Given the description of an element on the screen output the (x, y) to click on. 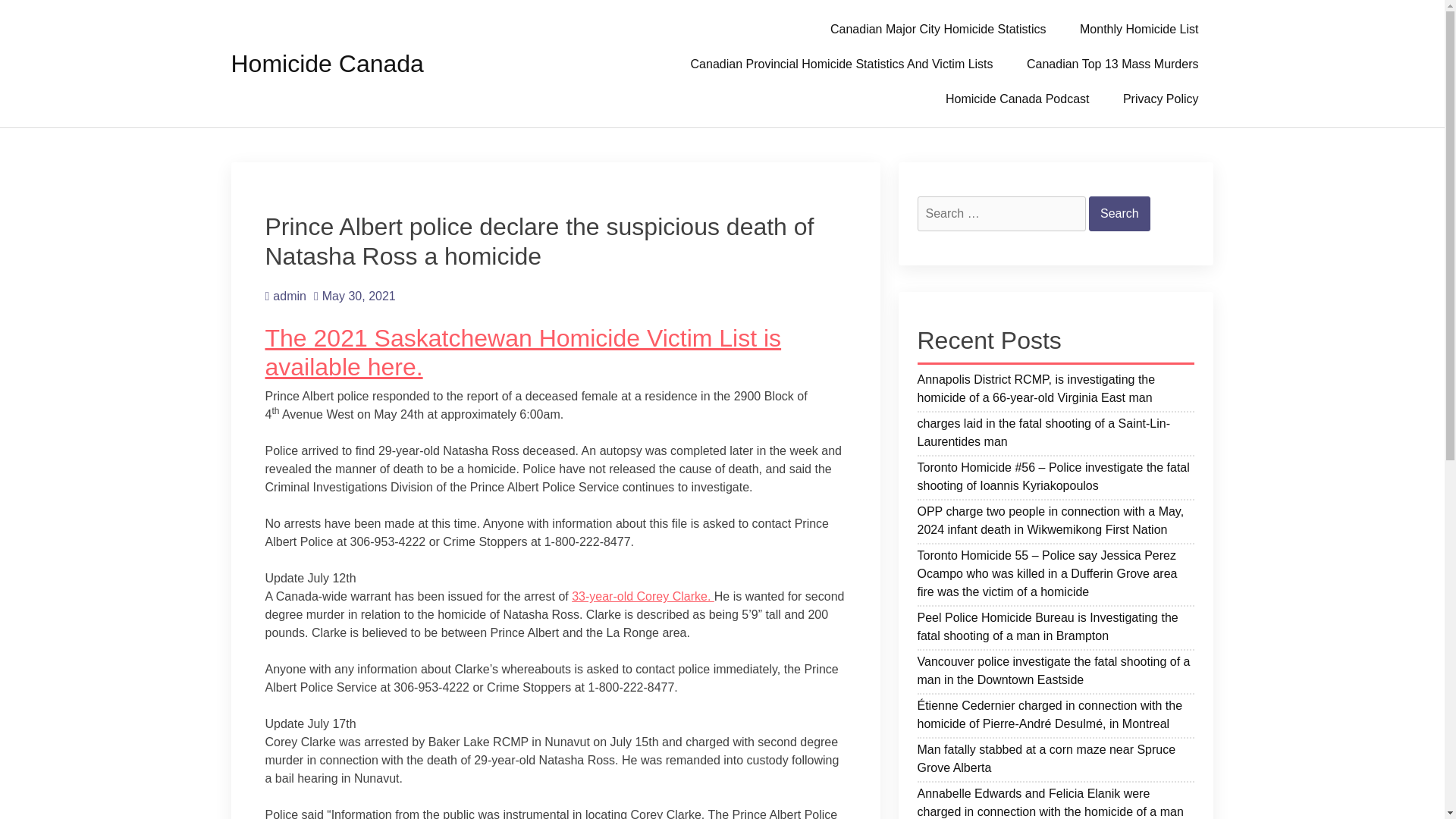
33-year-old Corey Clarke. (643, 595)
Privacy Policy (1161, 98)
Homicide Canada Podcast (1016, 98)
Canadian Major City Homicide Statistics (938, 28)
Canadian Provincial Homicide Statistics And Victim Lists (842, 63)
admin (284, 295)
May 30, 2021 (355, 295)
